Given the description of an element on the screen output the (x, y) to click on. 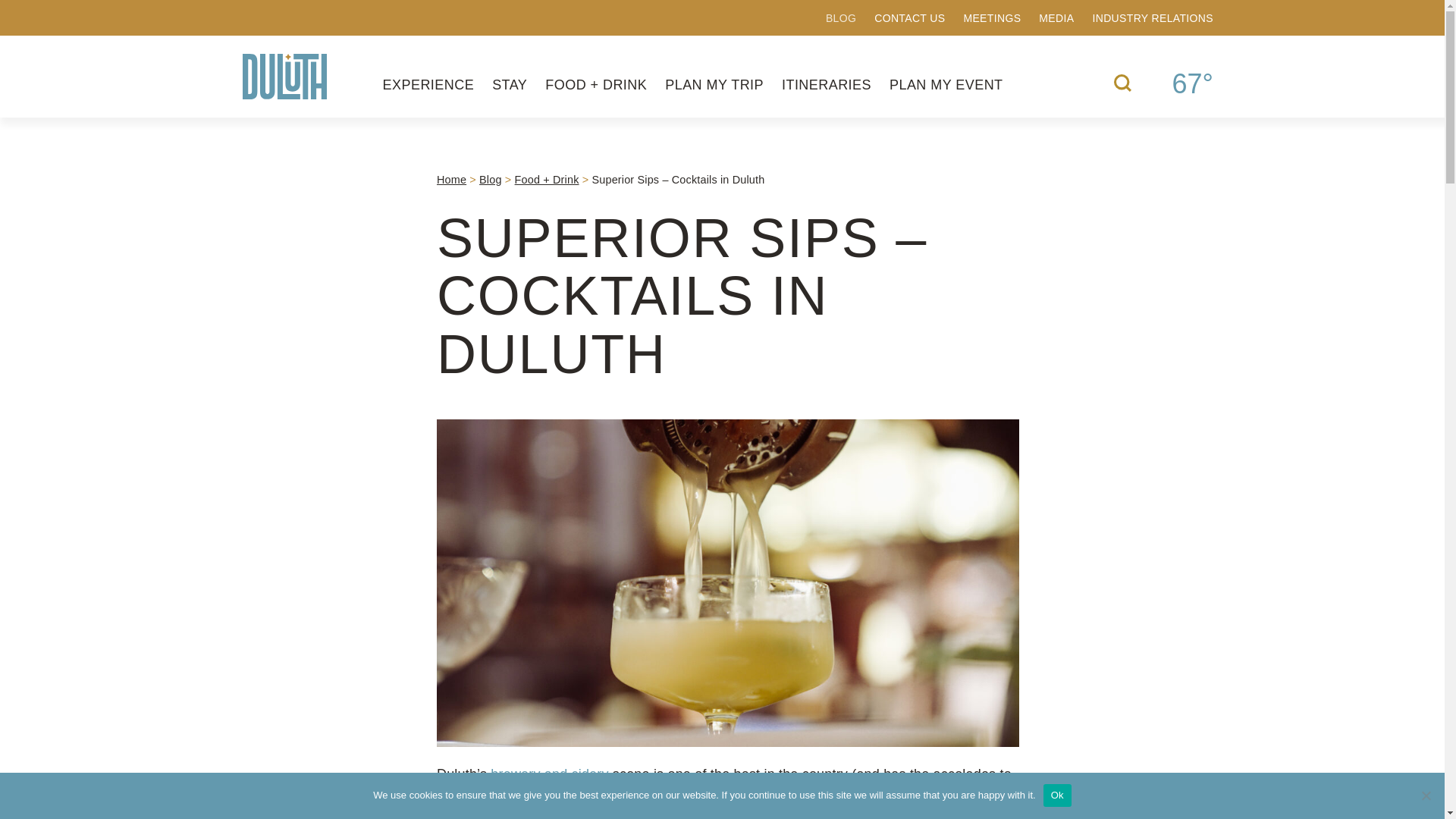
CONTACT US (909, 18)
PLAN MY TRIP (713, 85)
BLOG (840, 18)
EXPERIENCE (428, 85)
MEDIA (1056, 18)
INDUSTRY RELATIONS (1152, 18)
MEETINGS (991, 18)
No (1425, 795)
